Given the description of an element on the screen output the (x, y) to click on. 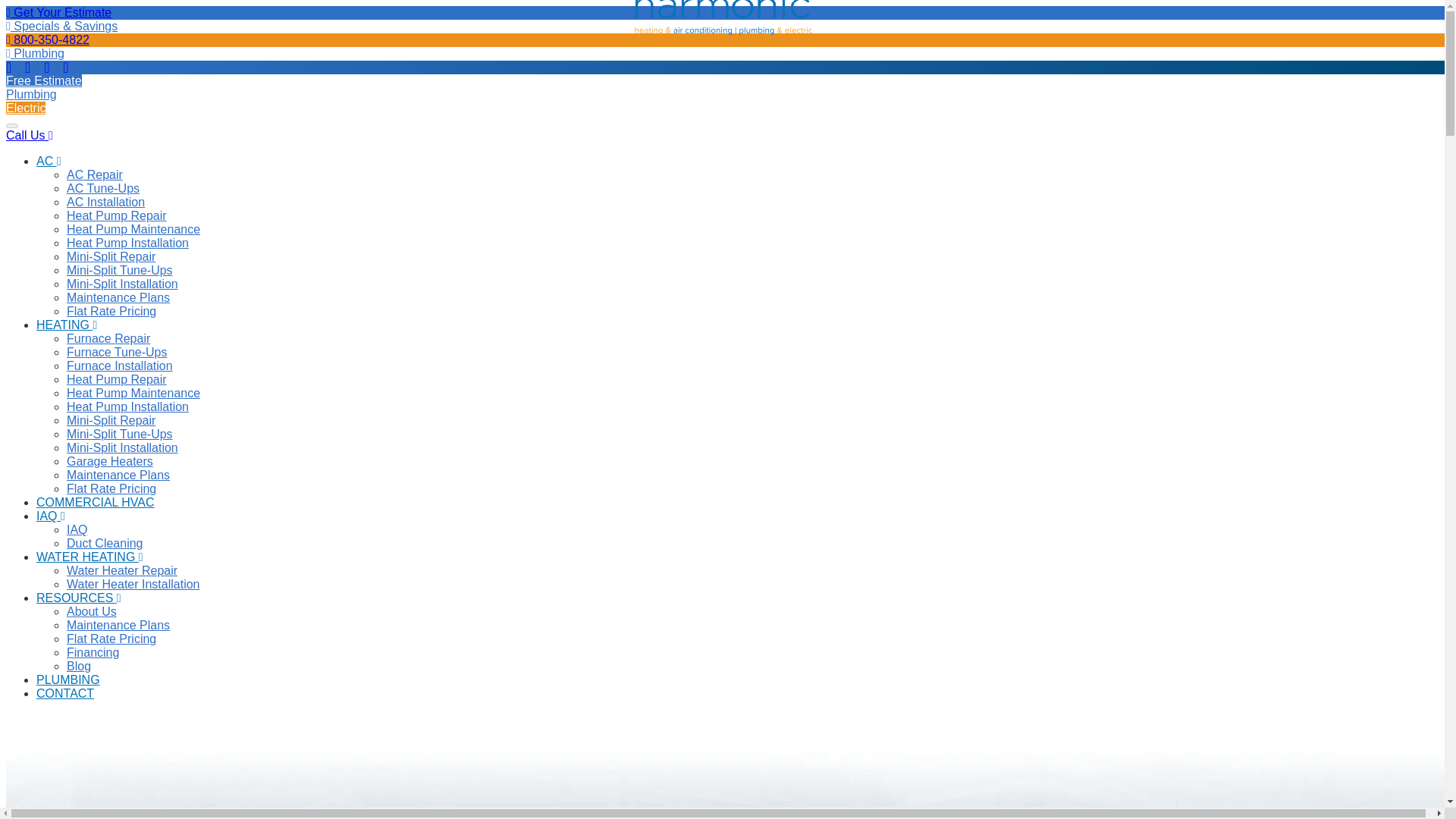
Mini-Split Maintenance in Naperville, IL (119, 269)
Flat Rate Pricing (110, 310)
Maintenance Plans (118, 297)
Heat Pump Repair in Naperville, IL (116, 215)
Mini-Split Installation in Naperville, IL (121, 447)
Mini-Split Tune-Ups (119, 433)
Furnace Installation in Naperville, IL (119, 365)
Furnace Repair in Naperville, IL (118, 297)
Mini-Split Installation in Naperville, IL (121, 283)
Furnace Maintenance in Naperville, IL (116, 351)
